Given the description of an element on the screen output the (x, y) to click on. 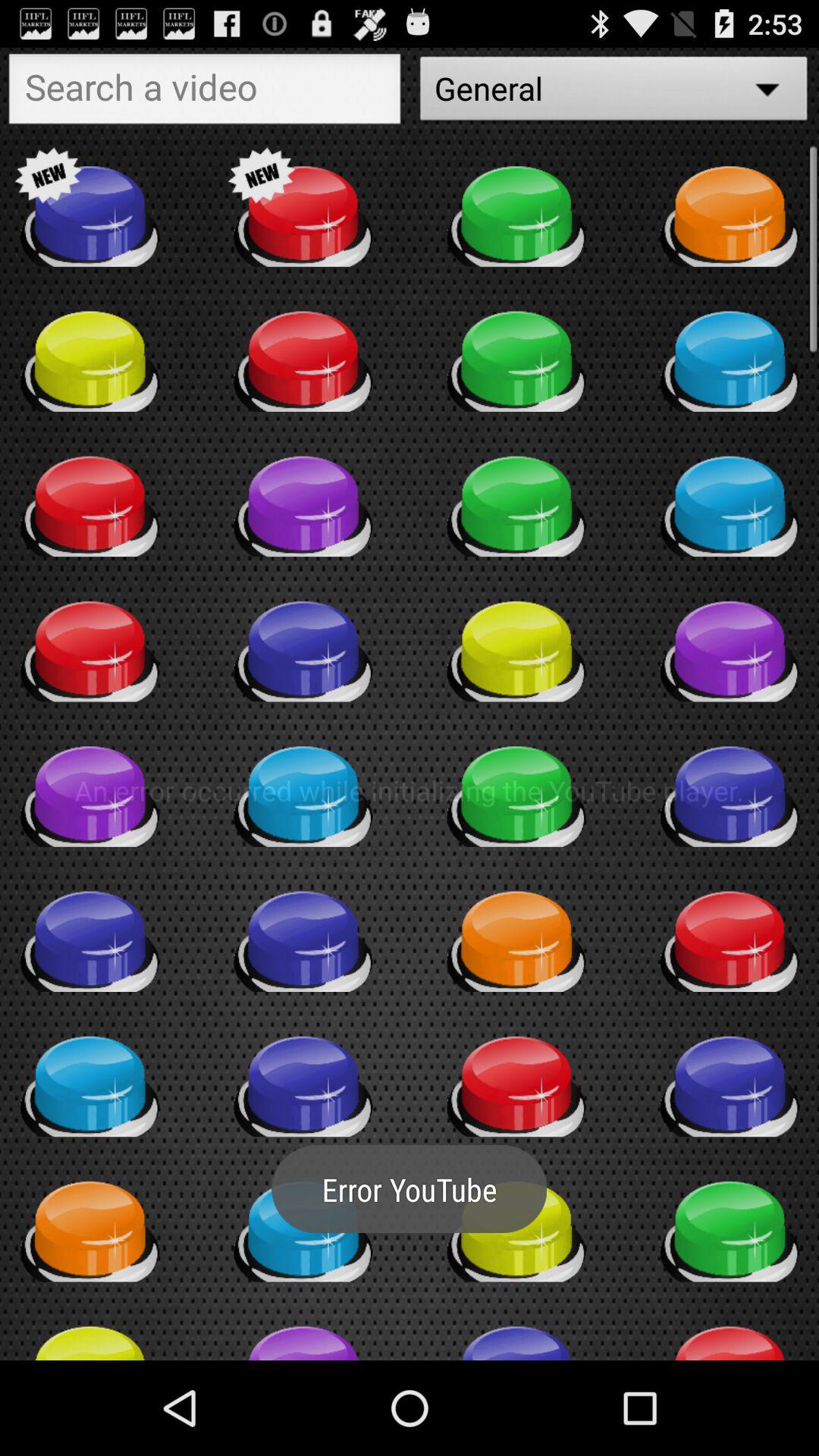
search a video (204, 92)
